Given the description of an element on the screen output the (x, y) to click on. 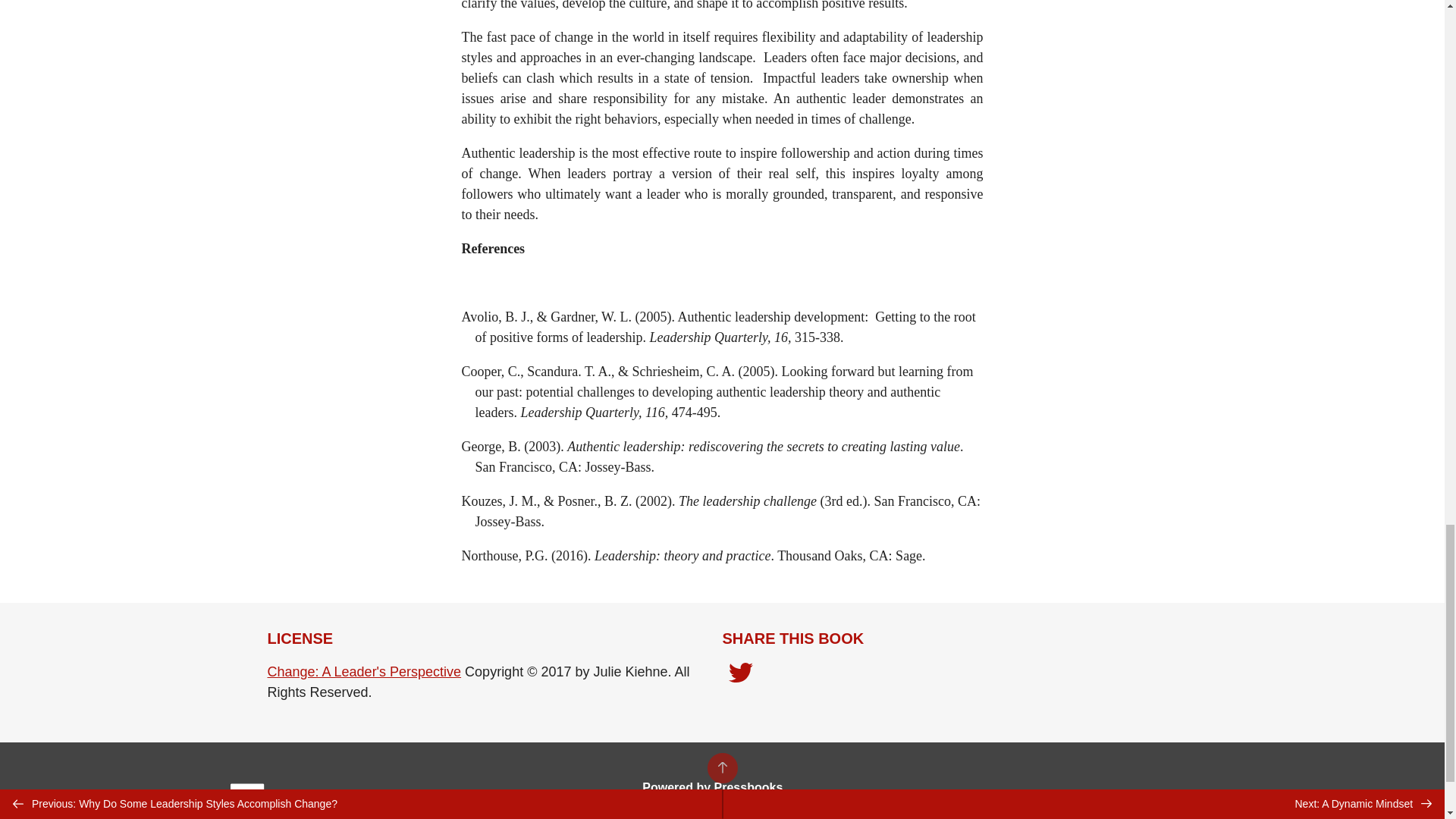
Guides and Tutorials (627, 815)
Contact (826, 815)
Pressbooks on YouTube (1174, 802)
Pressbooks Directory (742, 815)
Change: A Leader's Perspective (363, 671)
Powered by Pressbooks (712, 787)
Share on Twitter (740, 675)
Share on Twitter (740, 672)
Pressbooks (247, 800)
